Given the description of an element on the screen output the (x, y) to click on. 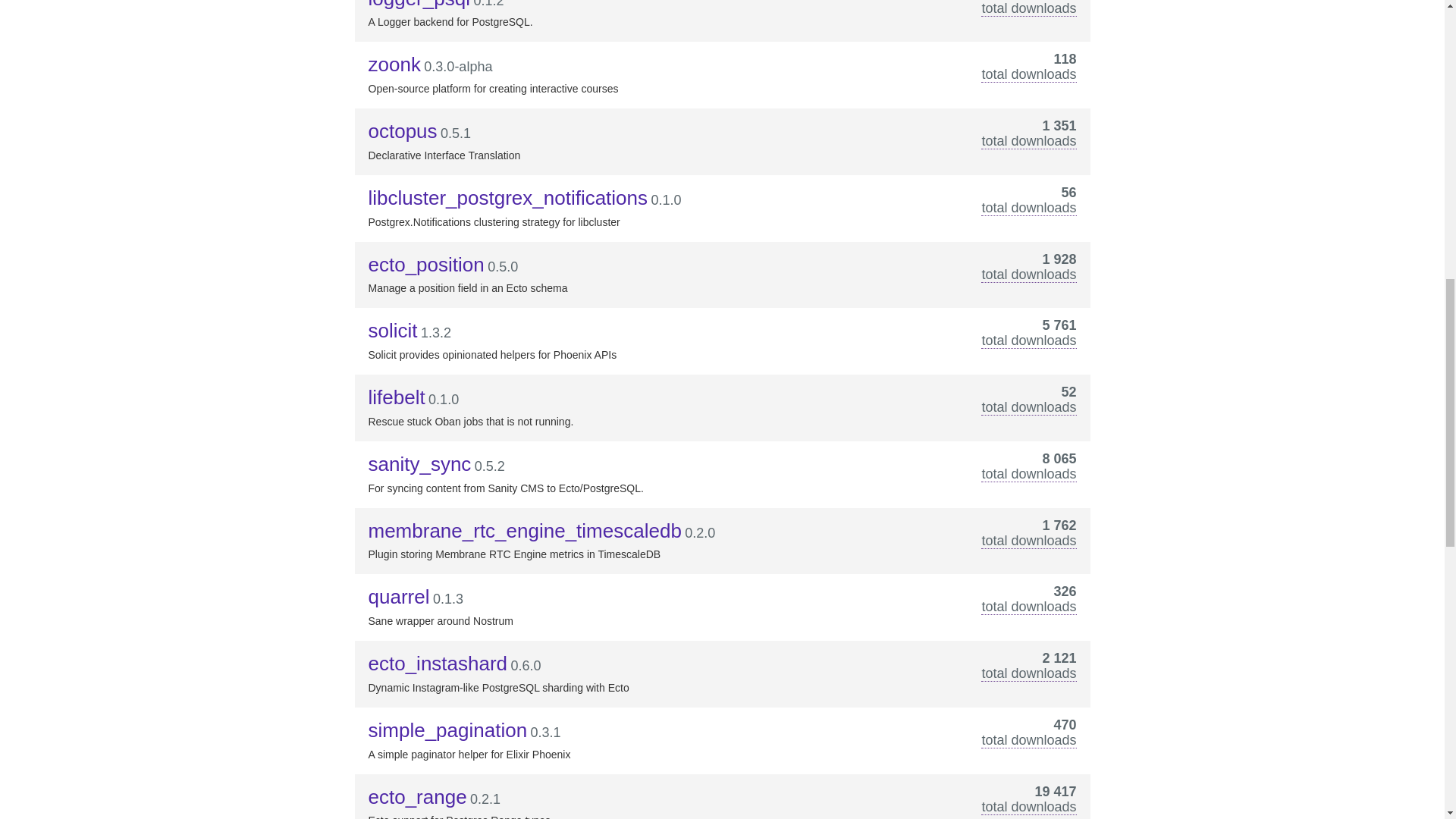
solicit (392, 330)
octopus (403, 130)
quarrel (398, 596)
lifebelt (396, 396)
zoonk (394, 64)
